Given the description of an element on the screen output the (x, y) to click on. 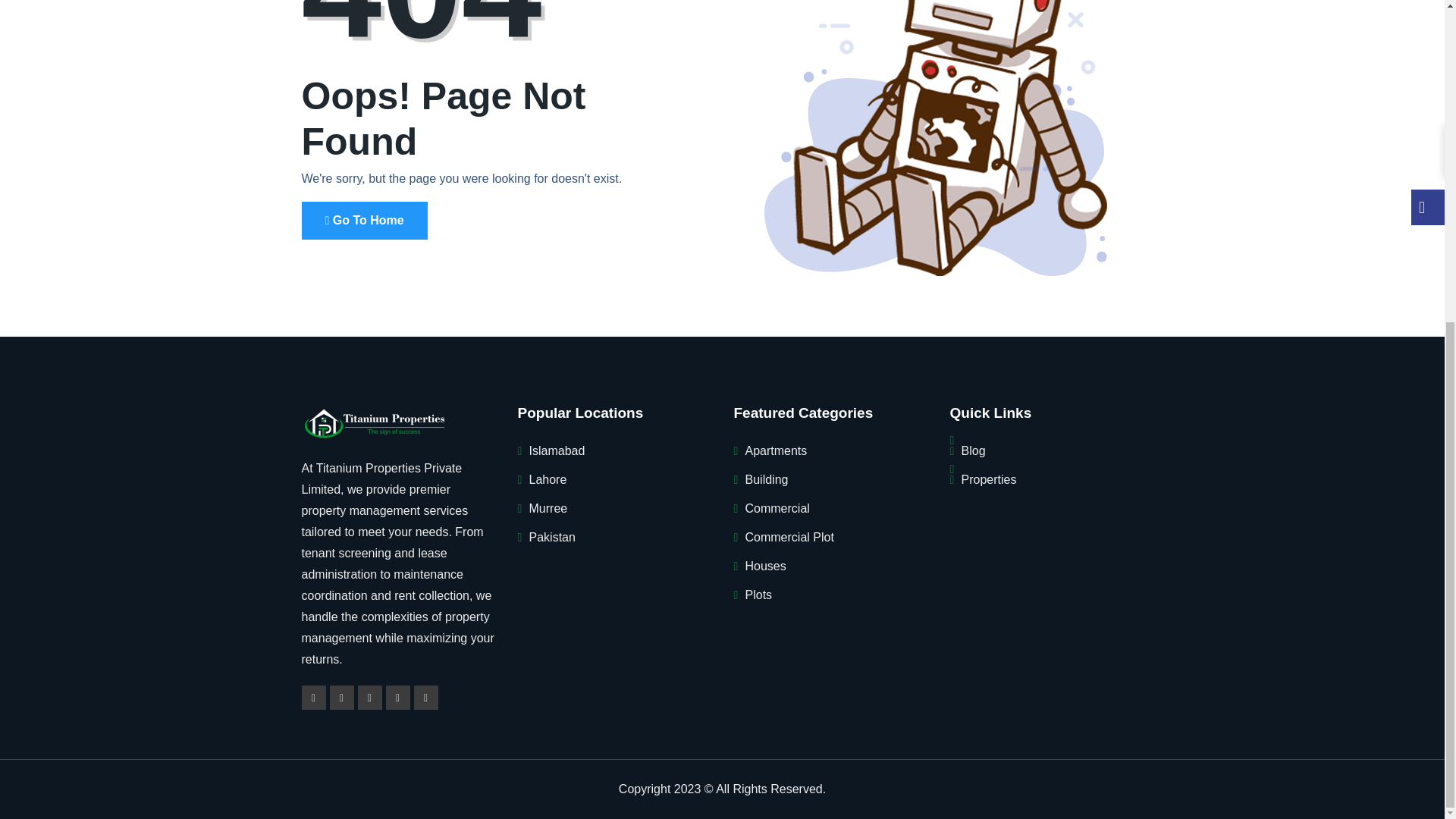
Islamabad (557, 450)
Apartments (775, 450)
Pakistan (552, 536)
Lahore (548, 479)
Houses (765, 565)
Properties (988, 479)
Commercial (776, 508)
Go To Home (364, 220)
Blog (972, 450)
Murree (548, 508)
